Given the description of an element on the screen output the (x, y) to click on. 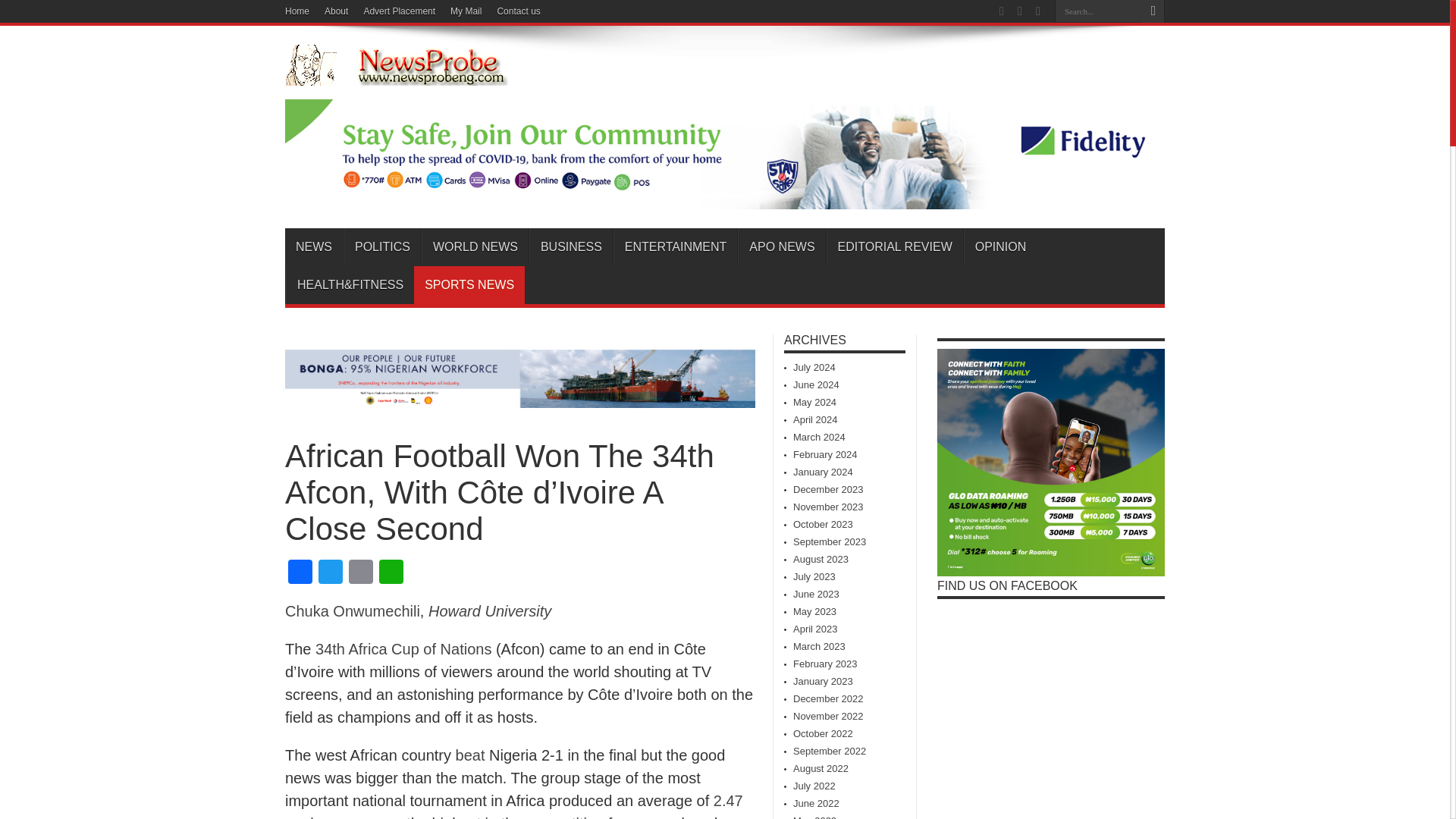
Search (1152, 11)
WhatsApp (390, 573)
Twitter (330, 573)
2.47 goals per game (513, 805)
Contact us (518, 11)
beat (469, 754)
OPINION (999, 247)
My Mail (465, 11)
ENTERTAINMENT (675, 247)
BUSINESS (570, 247)
Howard University (489, 610)
Email (360, 573)
Chuka Onwumechili (352, 610)
NEWS (313, 247)
34th Africa Cup of Nations (403, 648)
